Given the description of an element on the screen output the (x, y) to click on. 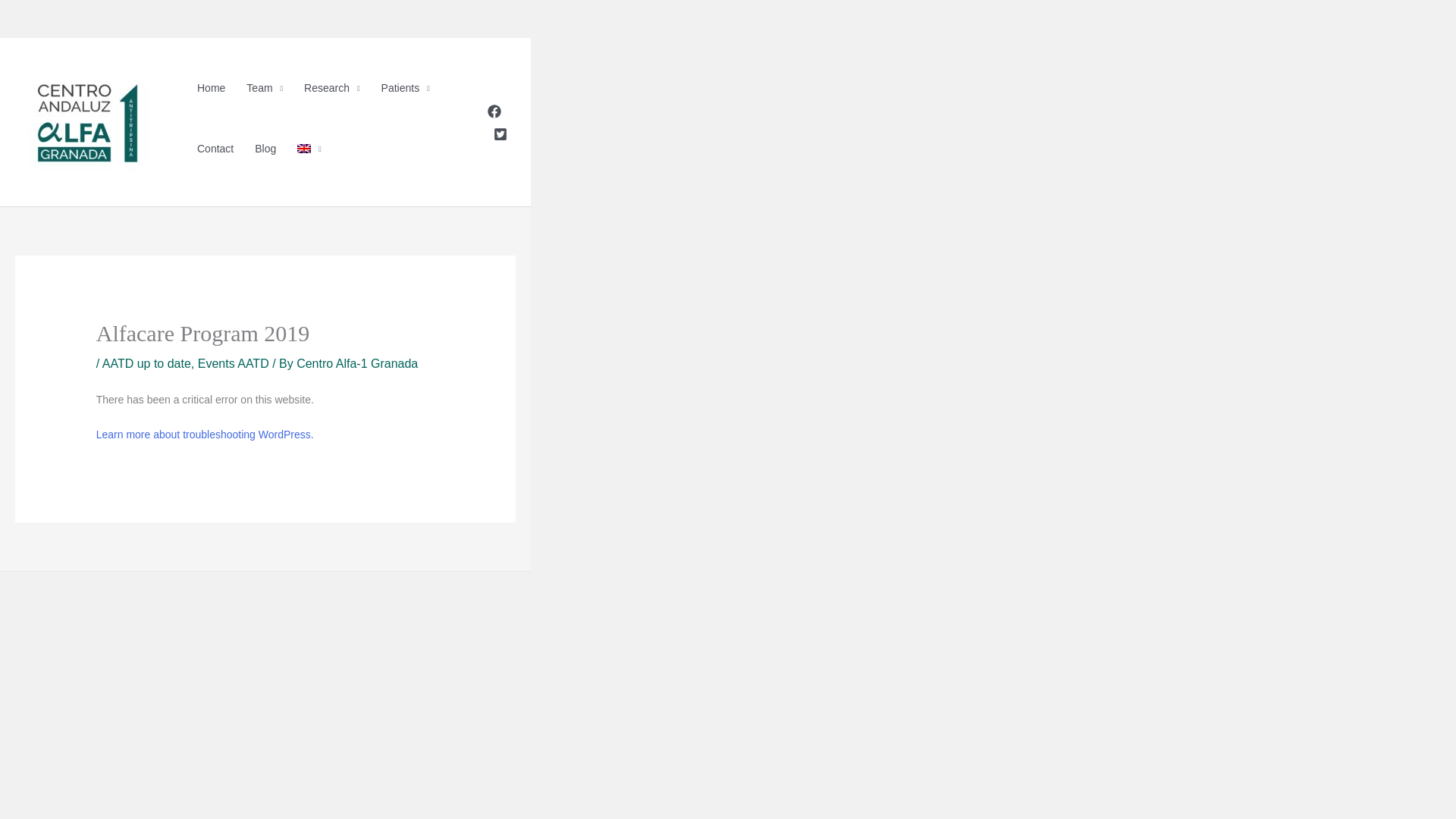
Team (264, 87)
Home (210, 87)
Research (331, 87)
Patients (406, 87)
Contact (215, 148)
View all posts by Centro Alfa-1 Granada (357, 363)
